Given the description of an element on the screen output the (x, y) to click on. 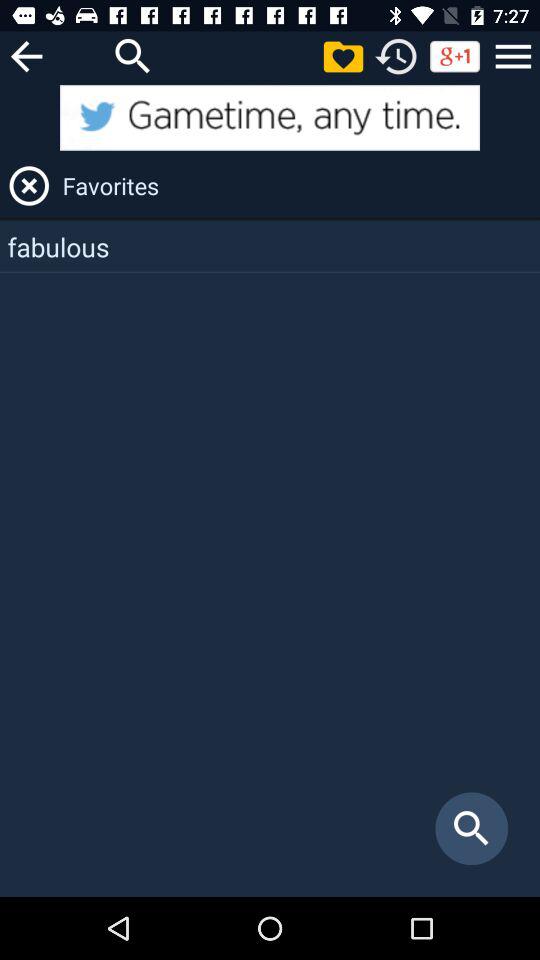
toggle search option (133, 56)
